Given the description of an element on the screen output the (x, y) to click on. 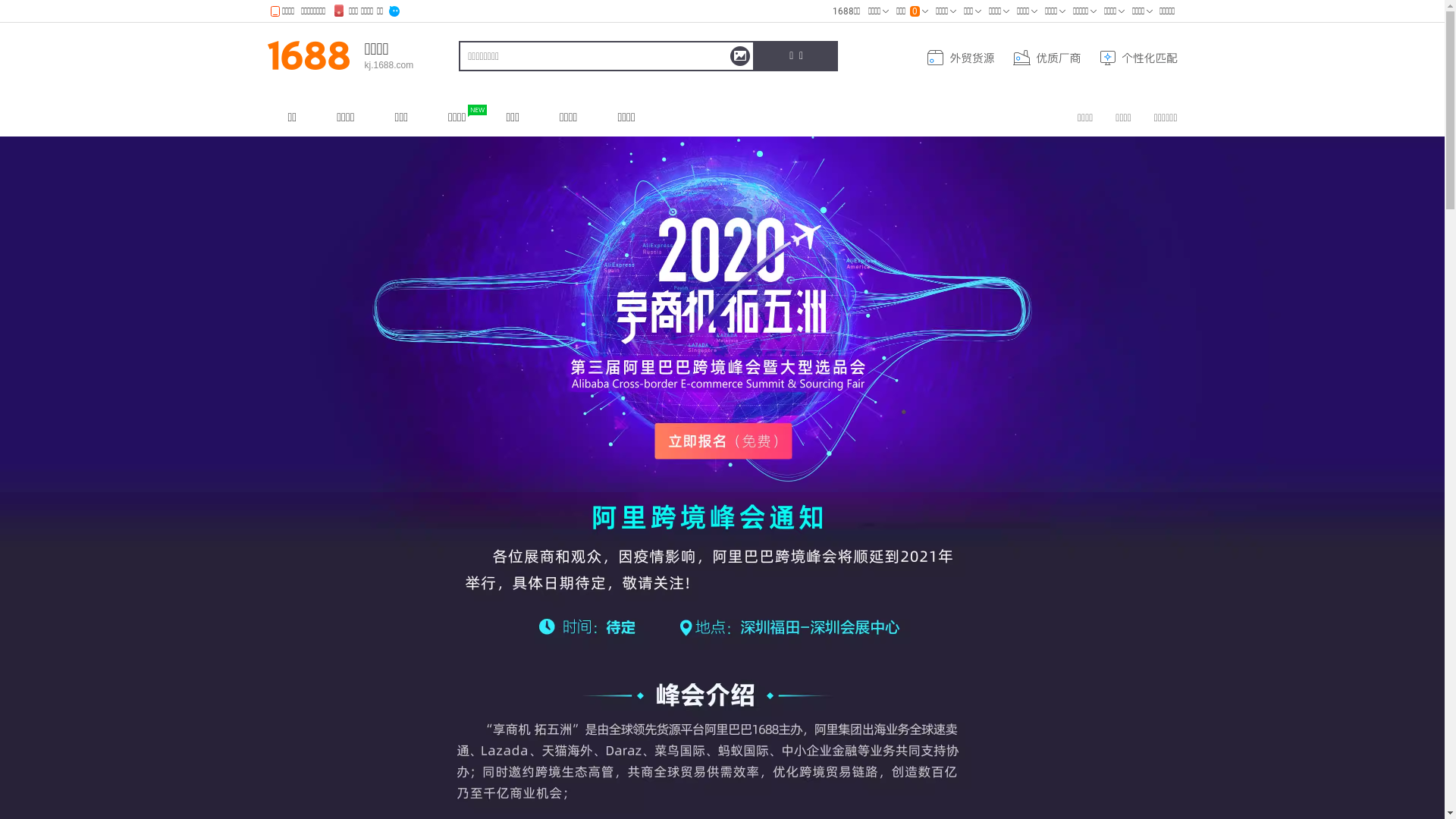
kj.1688.com Element type: text (388, 64)
